Given the description of an element on the screen output the (x, y) to click on. 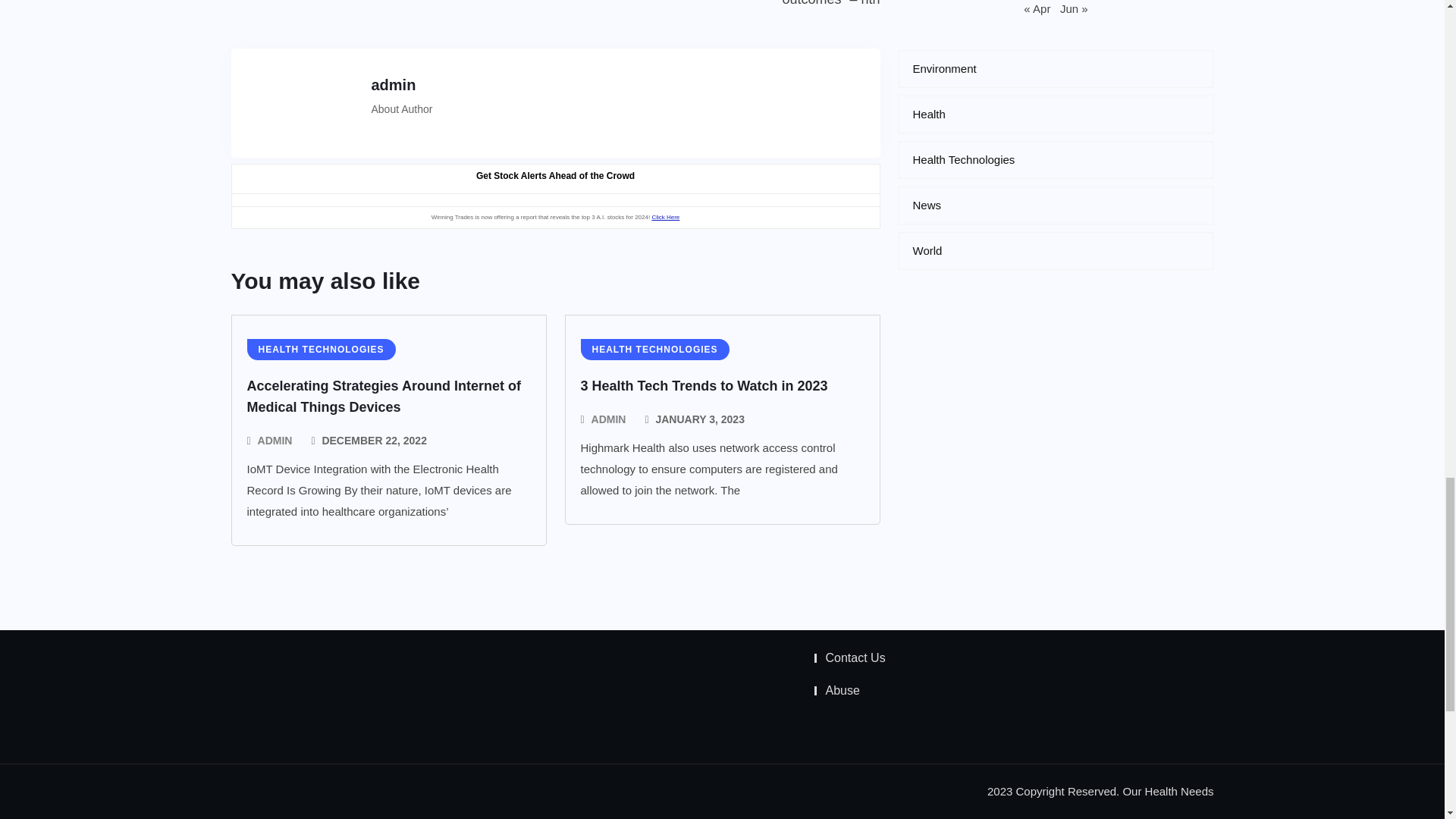
Posts by admin (274, 440)
Posts by admin (608, 418)
